Given the description of an element on the screen output the (x, y) to click on. 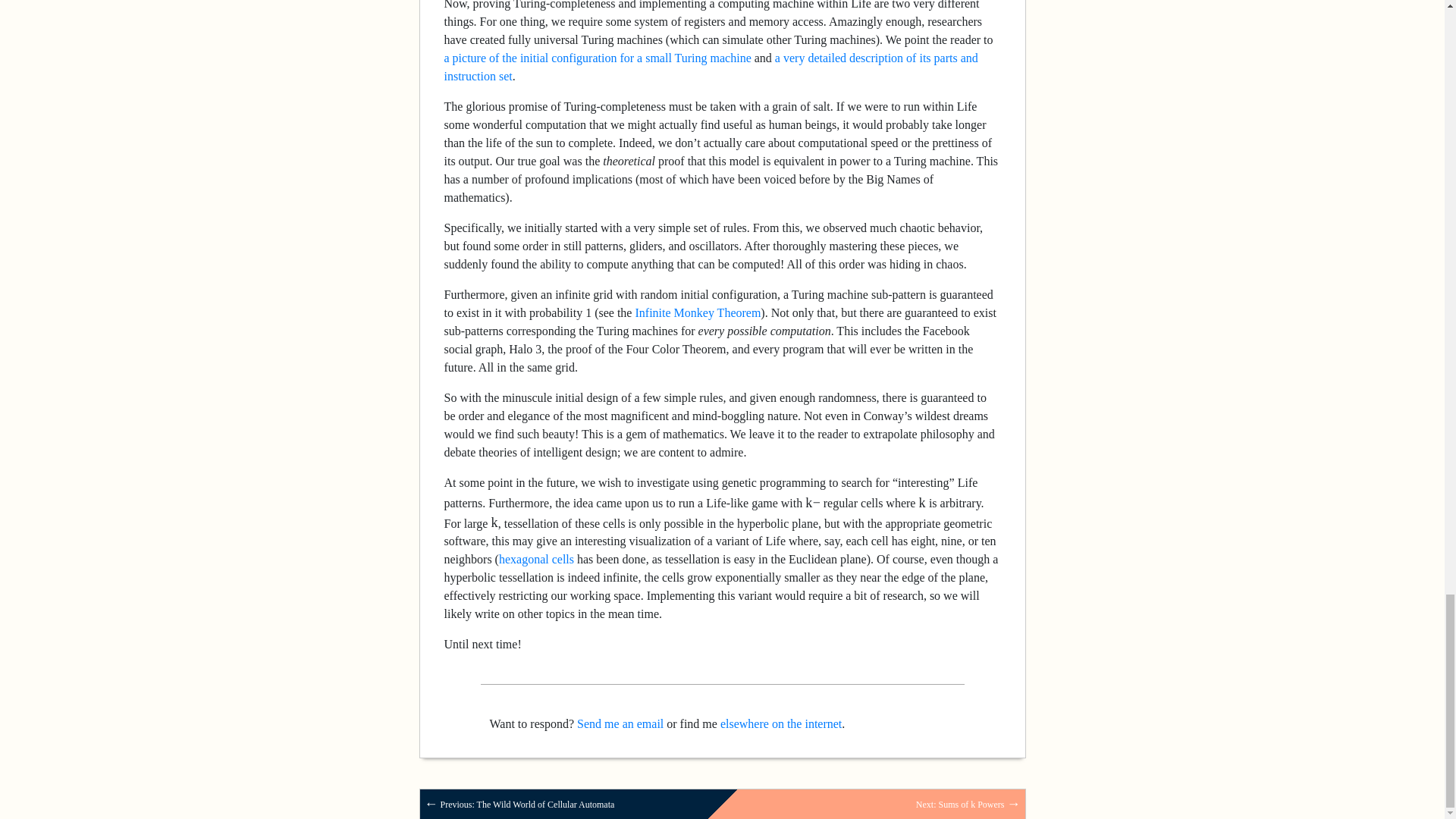
Send me an email (619, 723)
a very detailed description of its parts and instruction set (711, 66)
Infinite Monkey Theorem (697, 312)
hexagonal cells (536, 558)
elsewhere on the internet (780, 723)
